Given the description of an element on the screen output the (x, y) to click on. 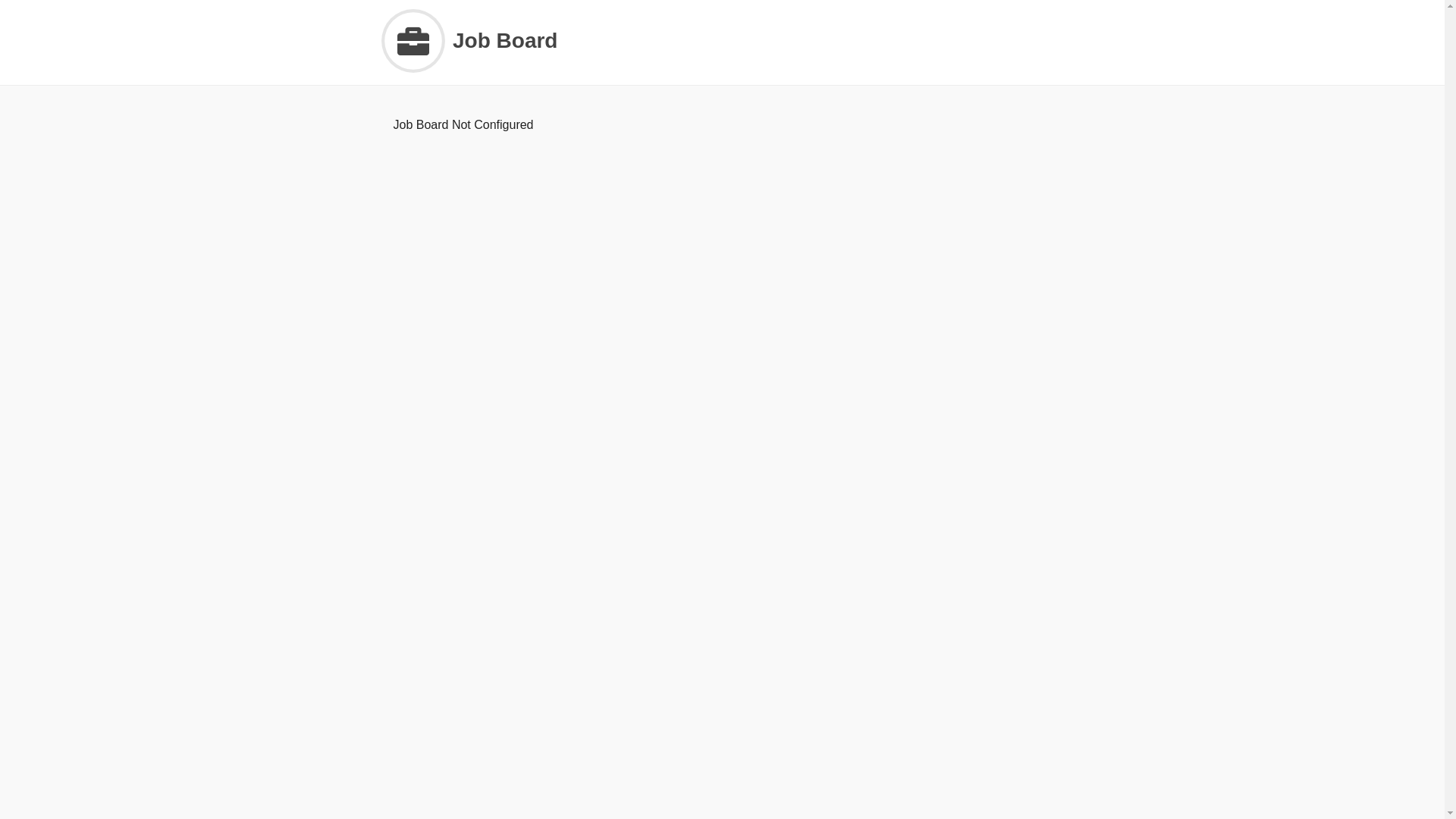
Job Board Element type: text (722, 40)
